Given the description of an element on the screen output the (x, y) to click on. 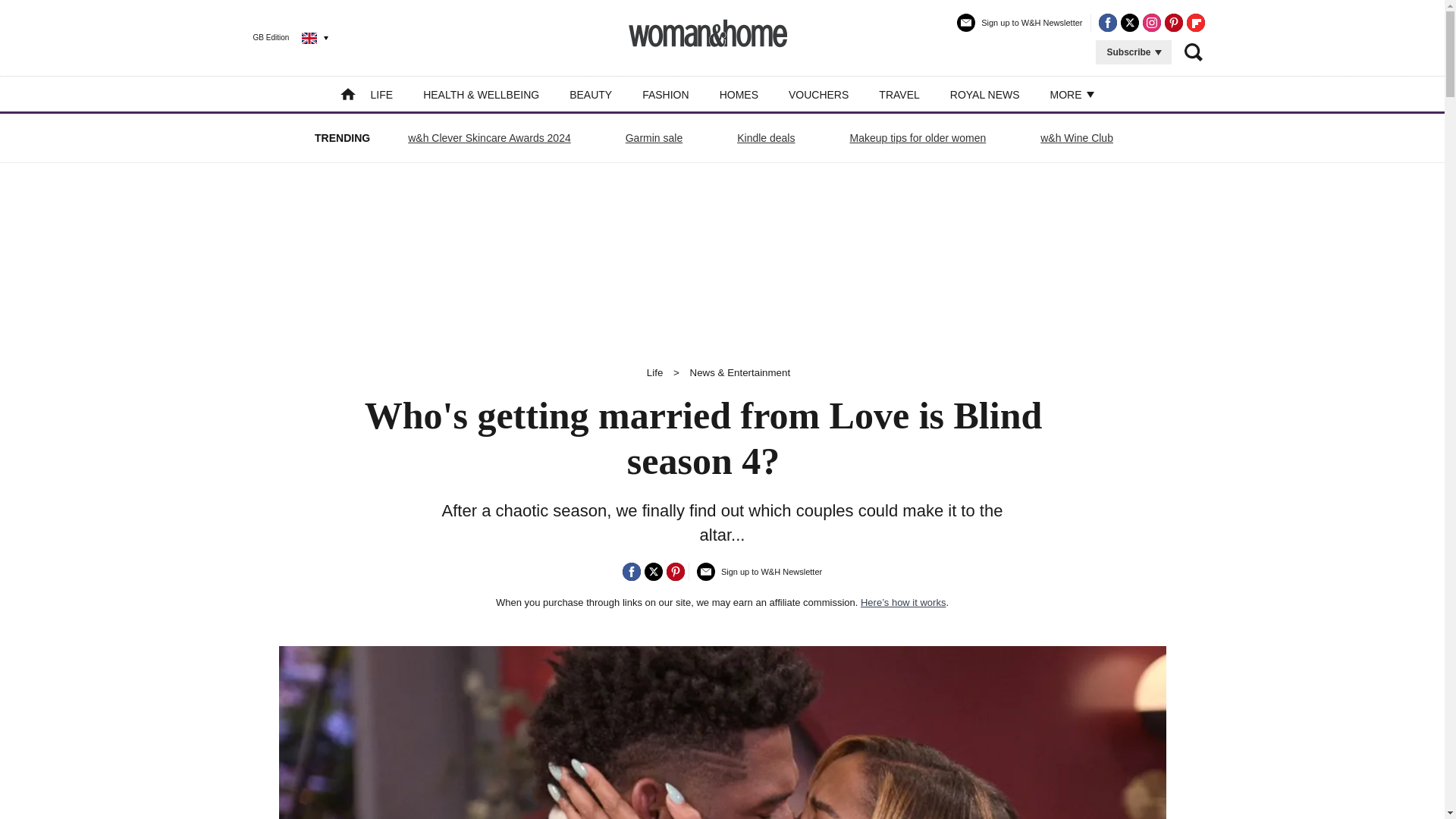
Makeup tips for older women (917, 137)
HOMES (738, 94)
Life (654, 372)
ROYAL NEWS (985, 94)
BEAUTY (590, 94)
GB Edition (279, 37)
TRAVEL (898, 94)
LIFE (382, 94)
FASHION (665, 94)
Garmin sale (653, 137)
VOUCHERS (818, 94)
Kindle deals (765, 137)
